Given the description of an element on the screen output the (x, y) to click on. 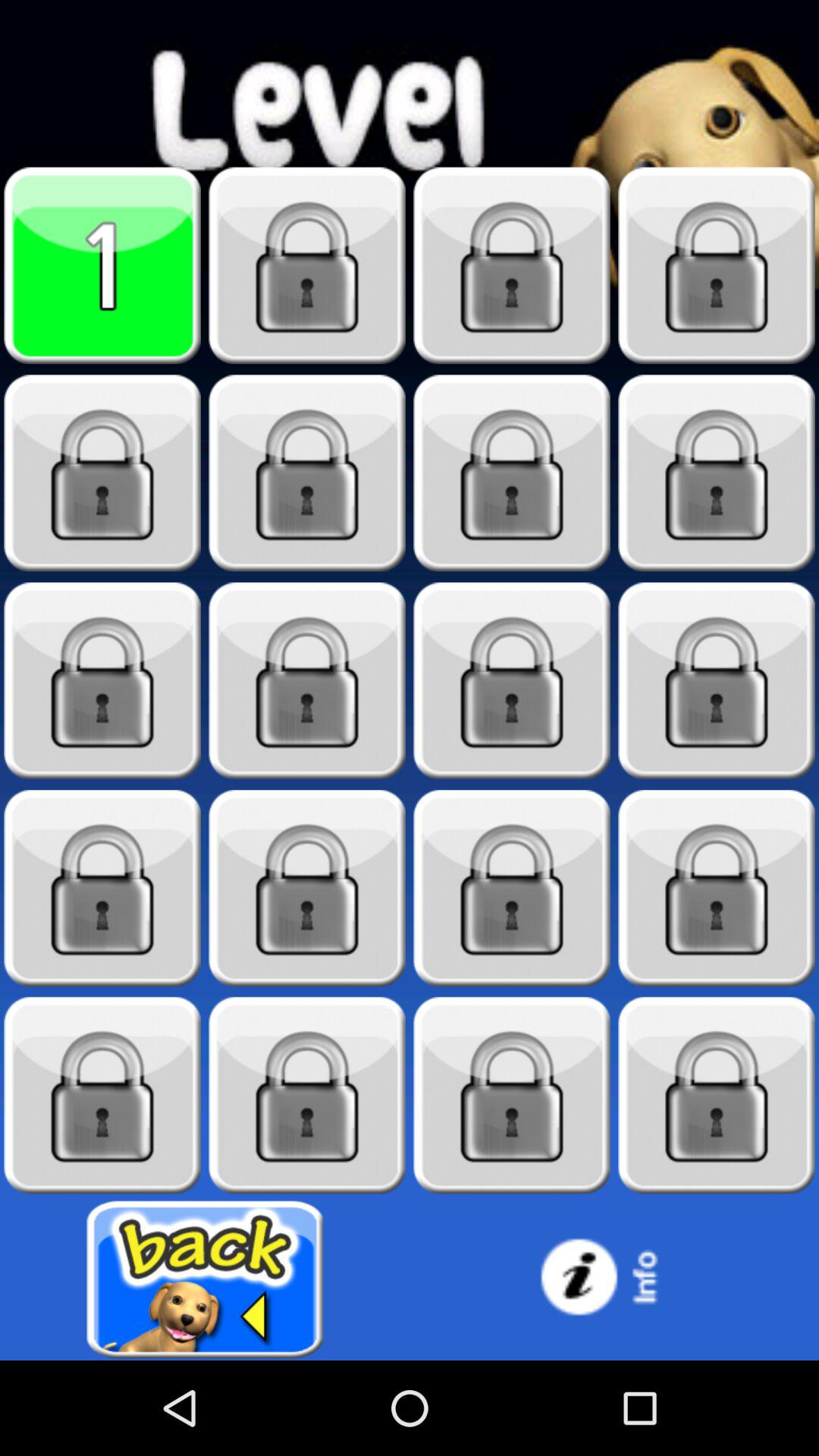
click to play level once unlocked (716, 473)
